Given the description of an element on the screen output the (x, y) to click on. 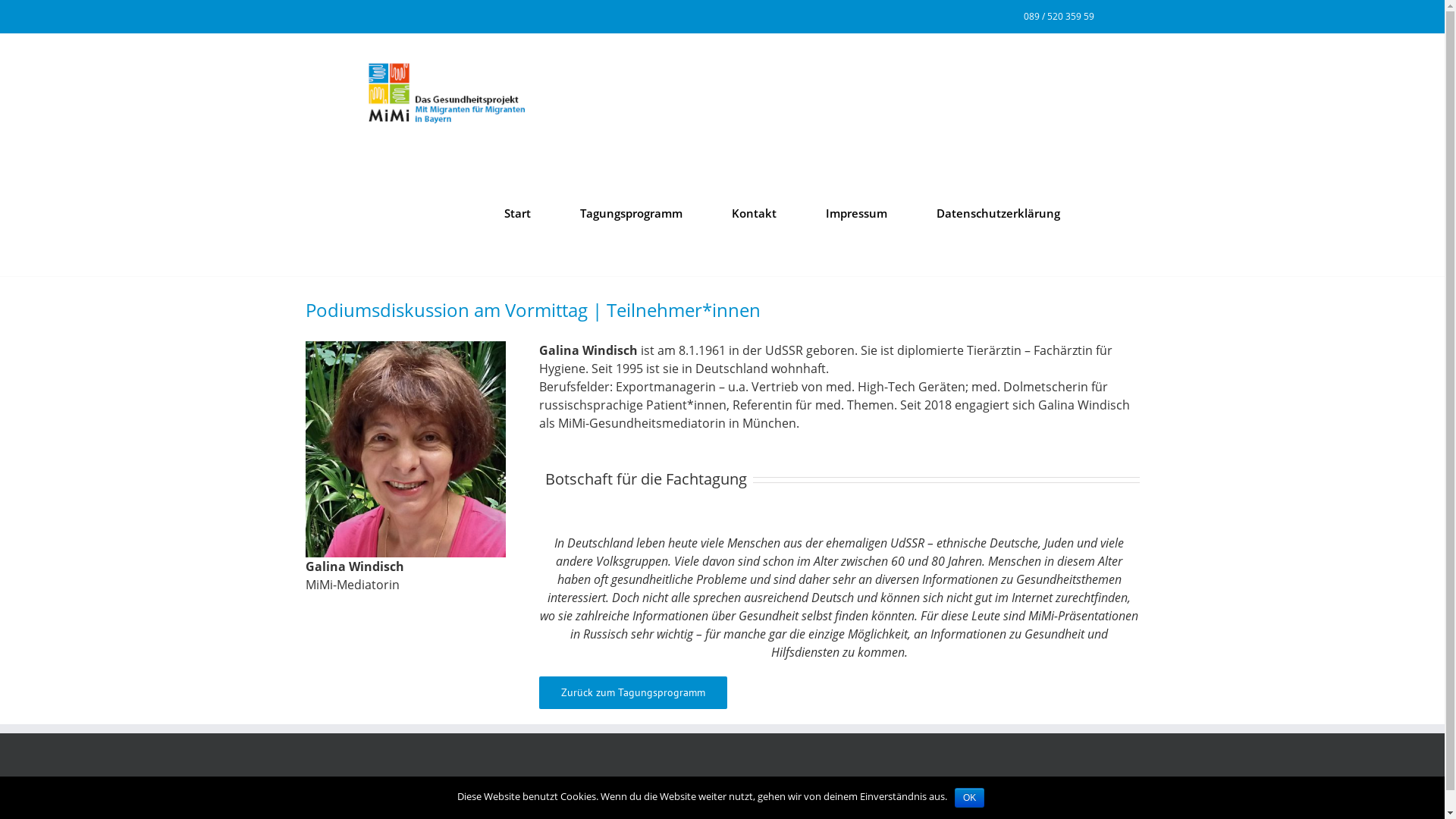
windisch Element type: hover (404, 449)
OK Element type: text (969, 797)
Impressum Element type: text (855, 213)
Tagungsprogramm Element type: text (630, 213)
Start Element type: text (516, 213)
Kontakt Element type: text (752, 213)
